Given the description of an element on the screen output the (x, y) to click on. 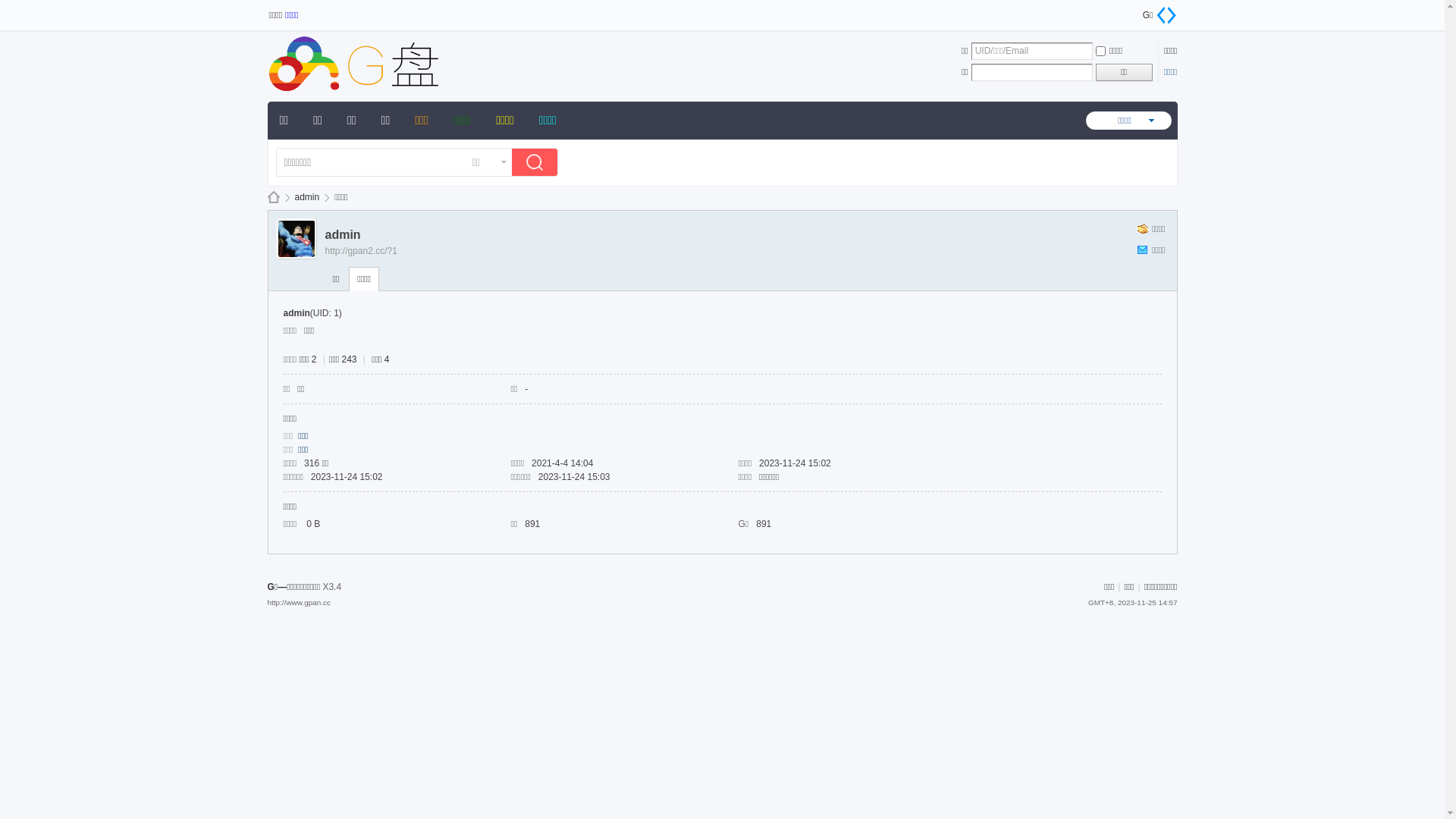
admin Element type: text (306, 197)
http://gpan2.cc/?1 Element type: text (360, 250)
true Element type: text (537, 163)
